Given the description of an element on the screen output the (x, y) to click on. 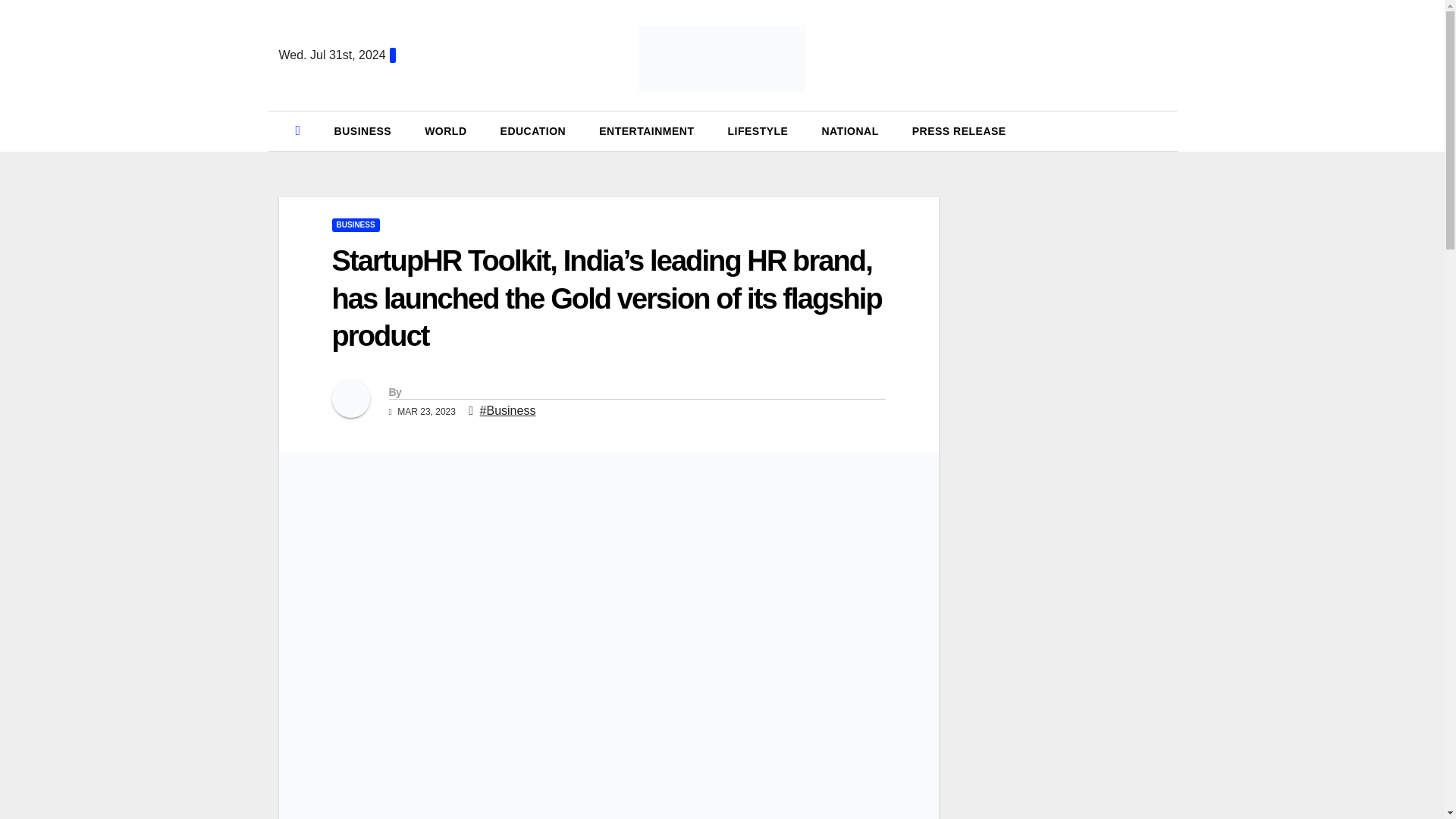
EDUCATION (533, 130)
BUSINESS (363, 130)
World (445, 130)
LIFESTYLE (757, 130)
Lifestyle (757, 130)
NATIONAL (850, 130)
ENTERTAINMENT (646, 130)
Entertainment (646, 130)
Education (533, 130)
National (850, 130)
PRESS RELEASE (959, 130)
BUSINESS (355, 224)
Business (363, 130)
Press Release (959, 130)
WORLD (445, 130)
